Given the description of an element on the screen output the (x, y) to click on. 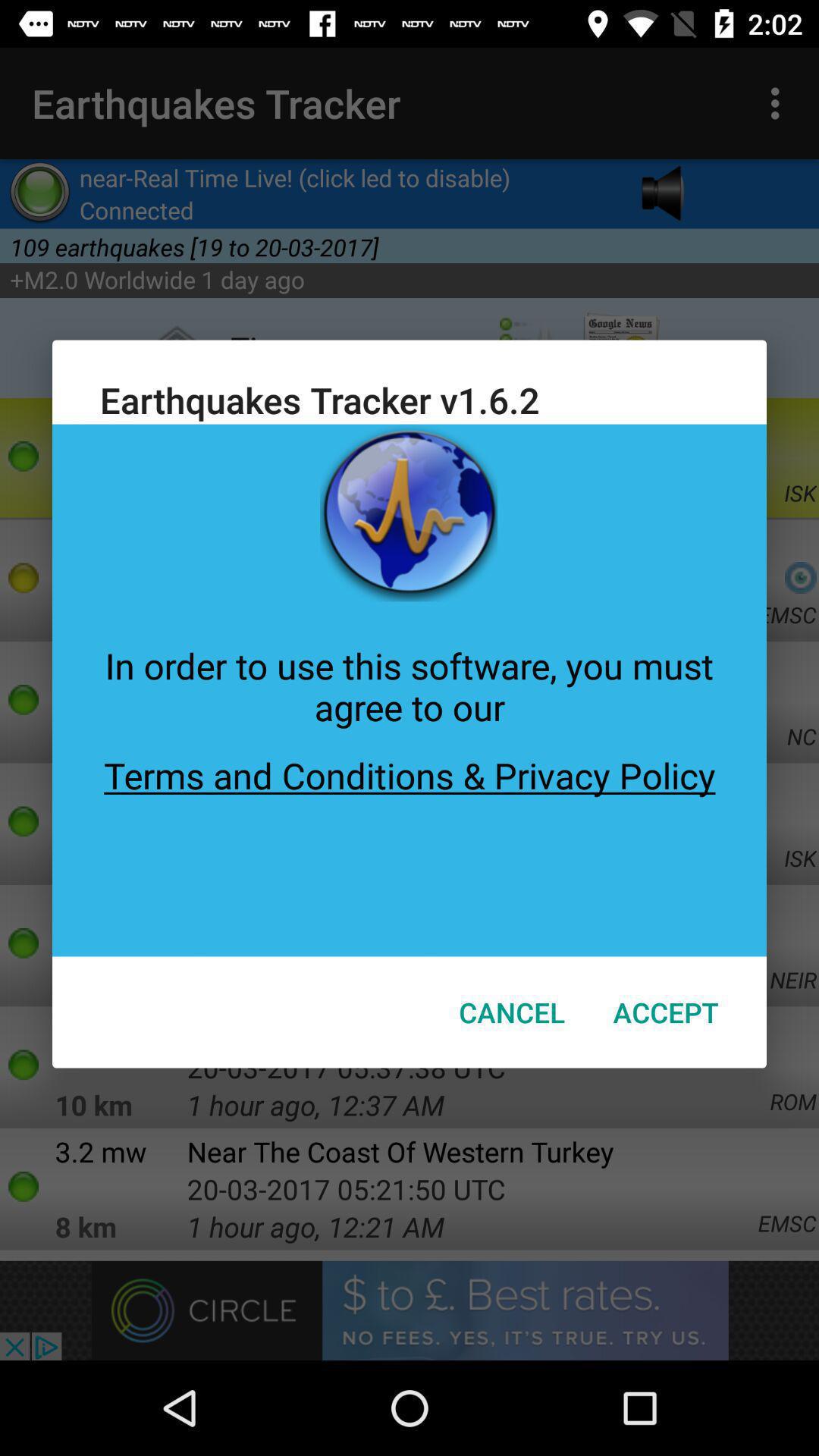
turn off icon at the bottom right corner (665, 1012)
